Given the description of an element on the screen output the (x, y) to click on. 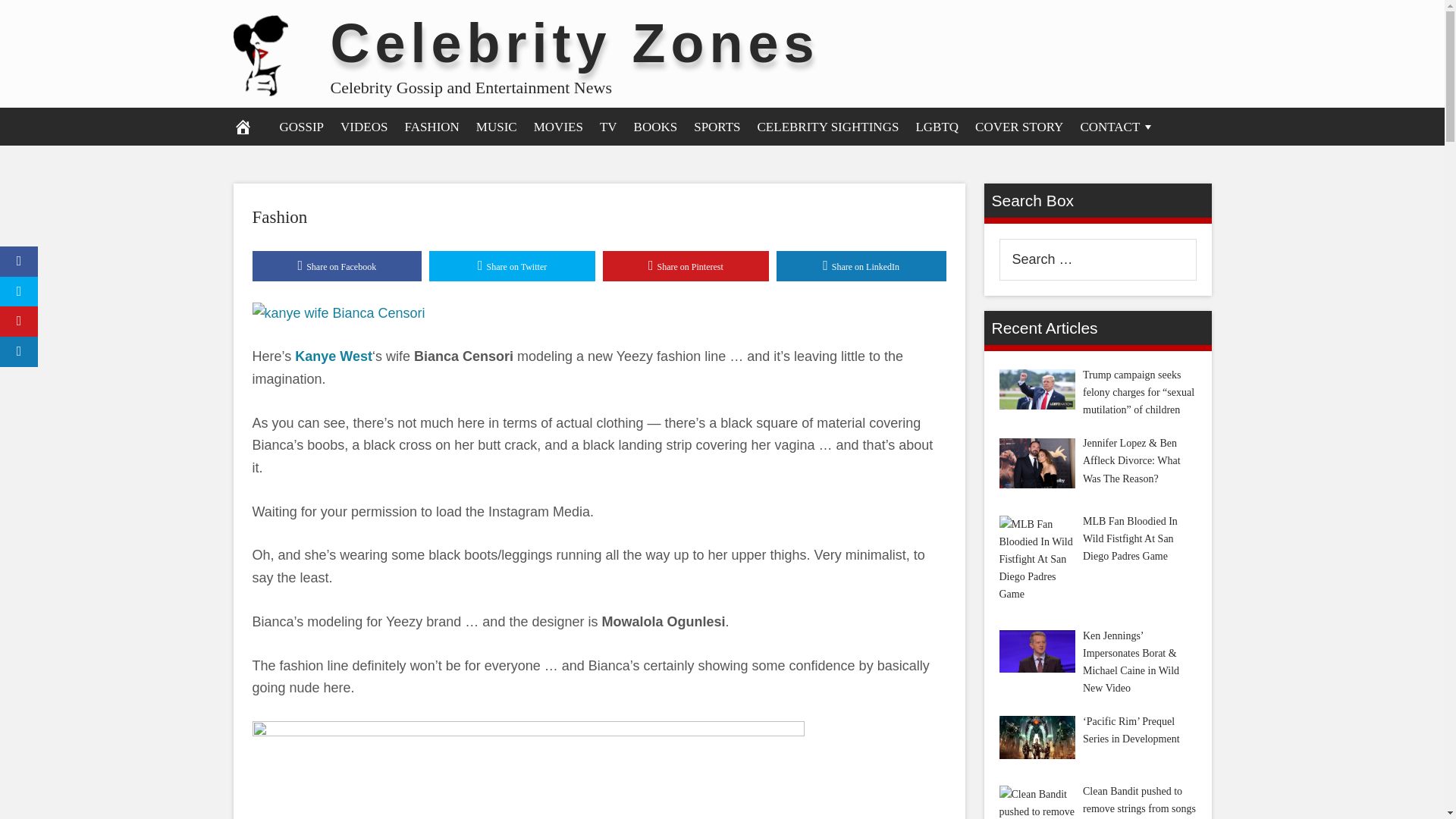
BOOKS (655, 126)
MOVIES (558, 126)
CONTACT (1117, 126)
Celebrity Zones (574, 42)
GOSSIP (301, 126)
LGBTQ (936, 126)
CELEBRITY SIGHTINGS (828, 126)
FASHION (431, 126)
